Given the description of an element on the screen output the (x, y) to click on. 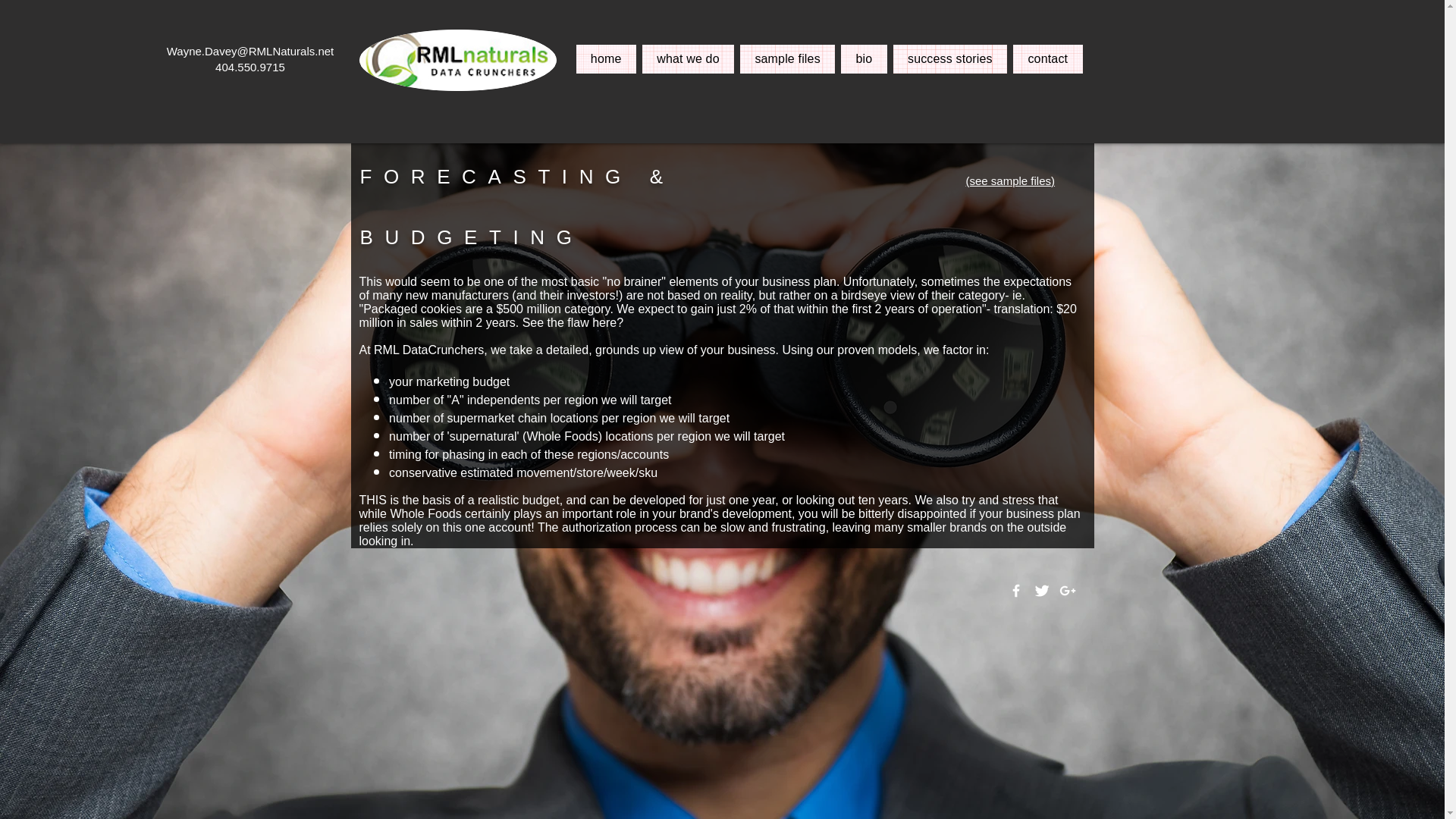
what we do (687, 59)
home (606, 59)
contact (1047, 59)
sample files (786, 59)
bio (863, 59)
RML Builders.jpg (457, 59)
success stories (950, 59)
